Given the description of an element on the screen output the (x, y) to click on. 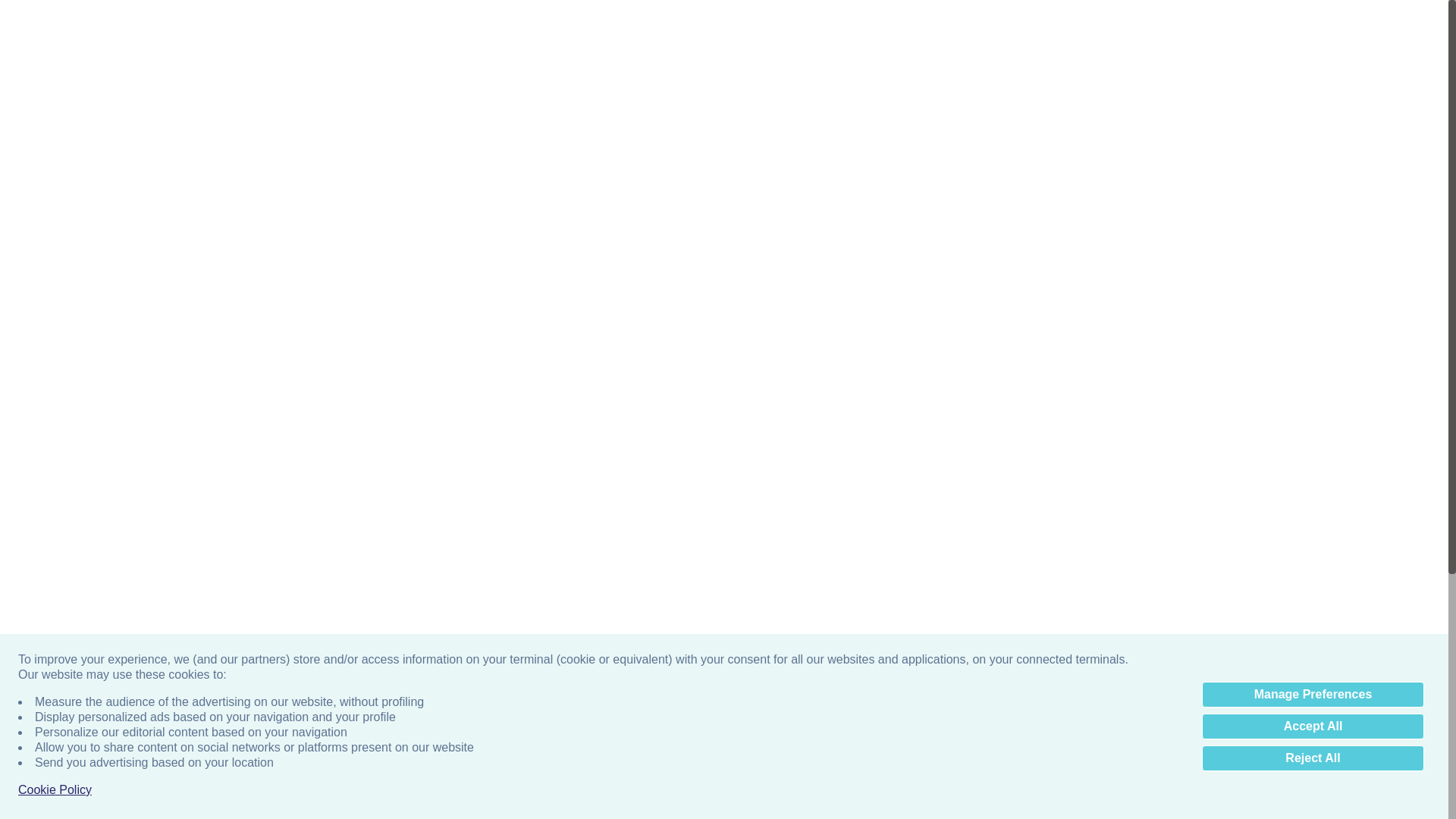
Cookie Policy (54, 789)
Manage Preferences (1312, 694)
Reject All (1312, 758)
Accept All (1312, 726)
